Given the description of an element on the screen output the (x, y) to click on. 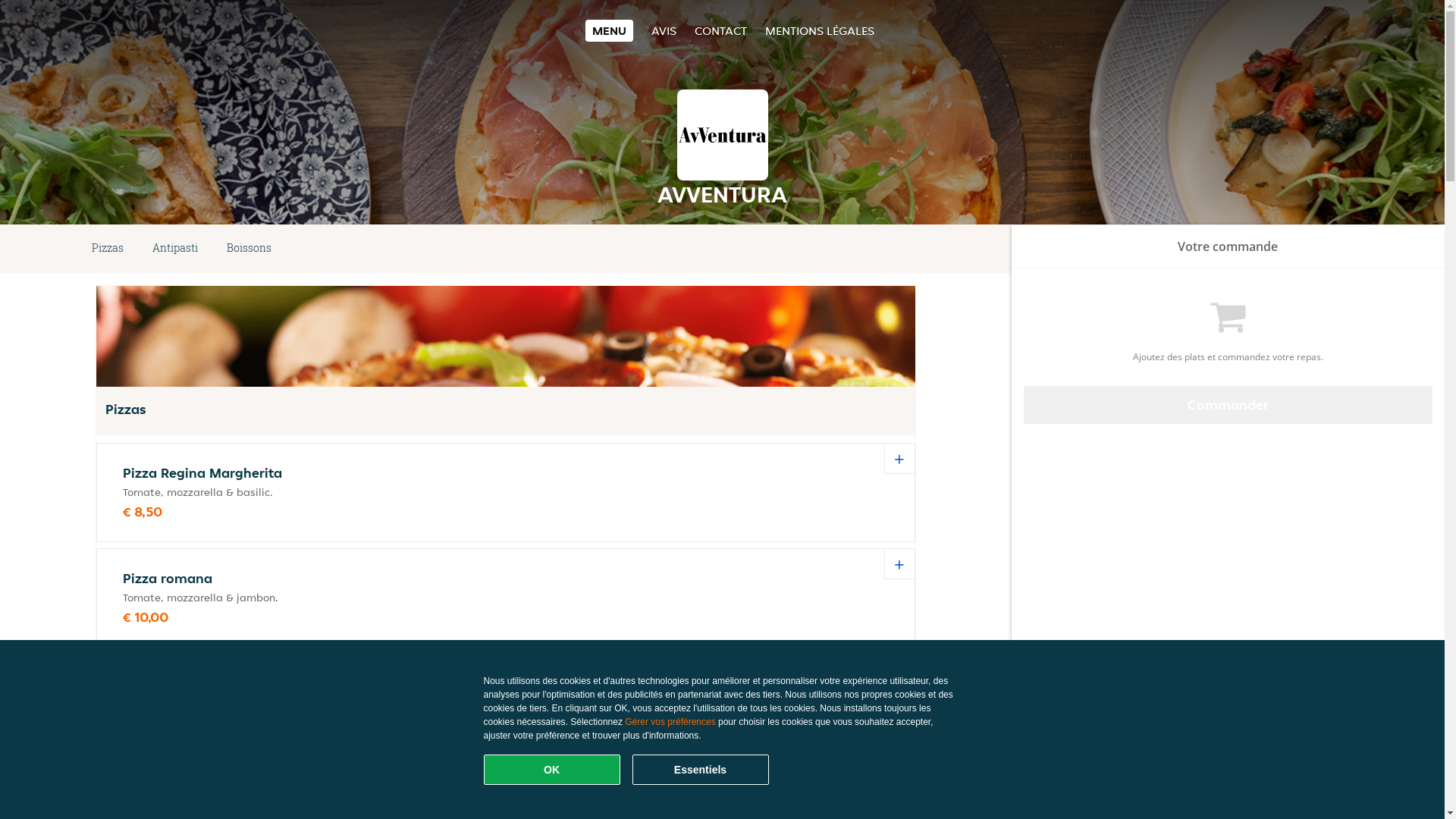
Boissons Element type: text (248, 248)
AVIS Element type: text (663, 30)
Commander Element type: text (1228, 404)
MENU Element type: text (609, 30)
CONTACT Element type: text (720, 30)
OK Element type: text (551, 769)
Antipasti Element type: text (175, 248)
Essentiels Element type: text (700, 769)
Pizzas Element type: text (107, 248)
